Given the description of an element on the screen output the (x, y) to click on. 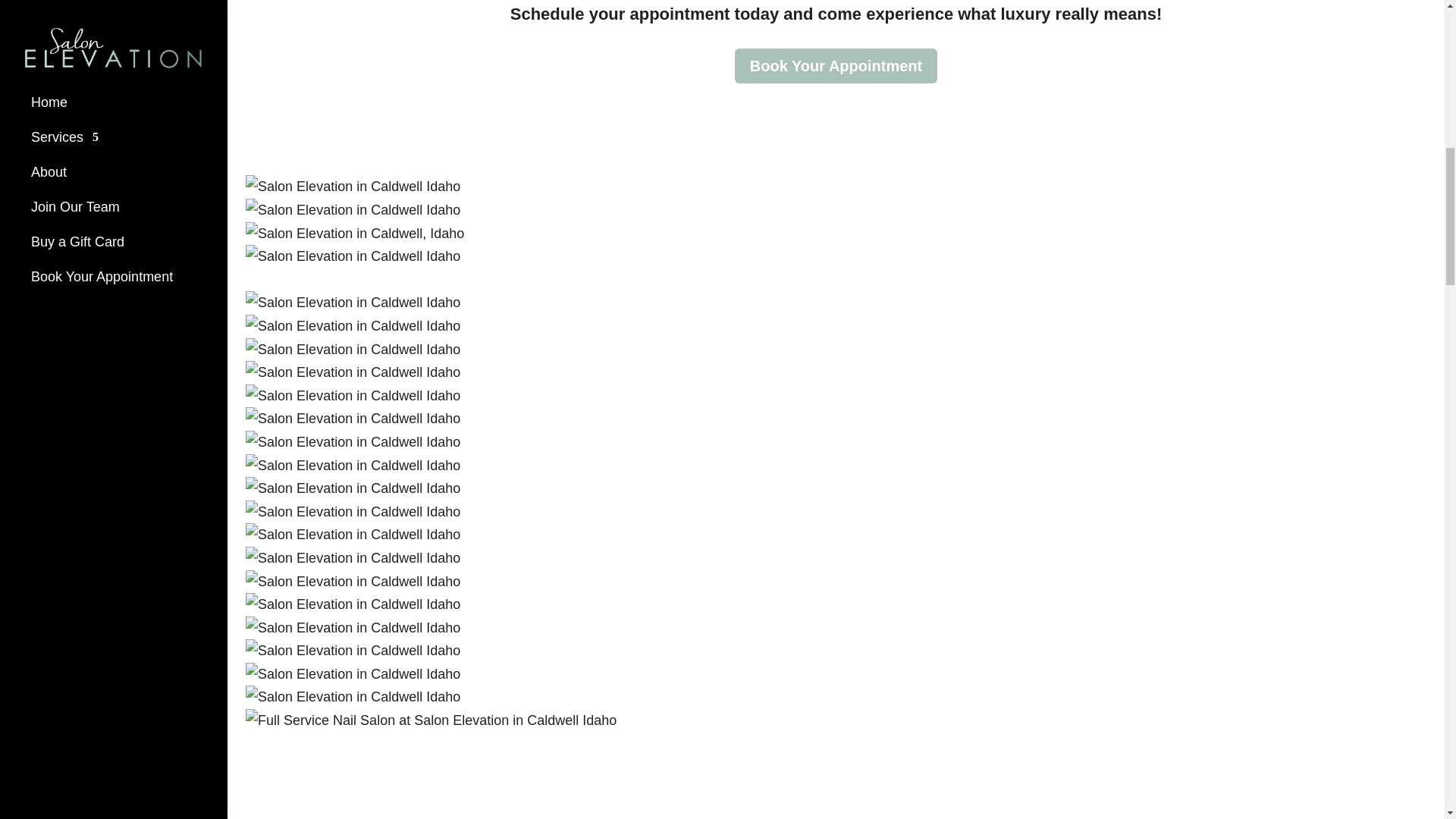
Salon Elevation- SALON (353, 465)
Salon Elevation- SALON (353, 488)
Salon Elevation- SALON (353, 302)
Salon Elevation- SALON (353, 349)
Salon Elevation- SALON (353, 442)
Salon Elevation- SALON (353, 326)
Salon Elevation- SALON (353, 187)
Book Your Appointment (836, 65)
Salon Elevation- SALON (353, 395)
Salon Elevation- SALON (353, 256)
